Given the description of an element on the screen output the (x, y) to click on. 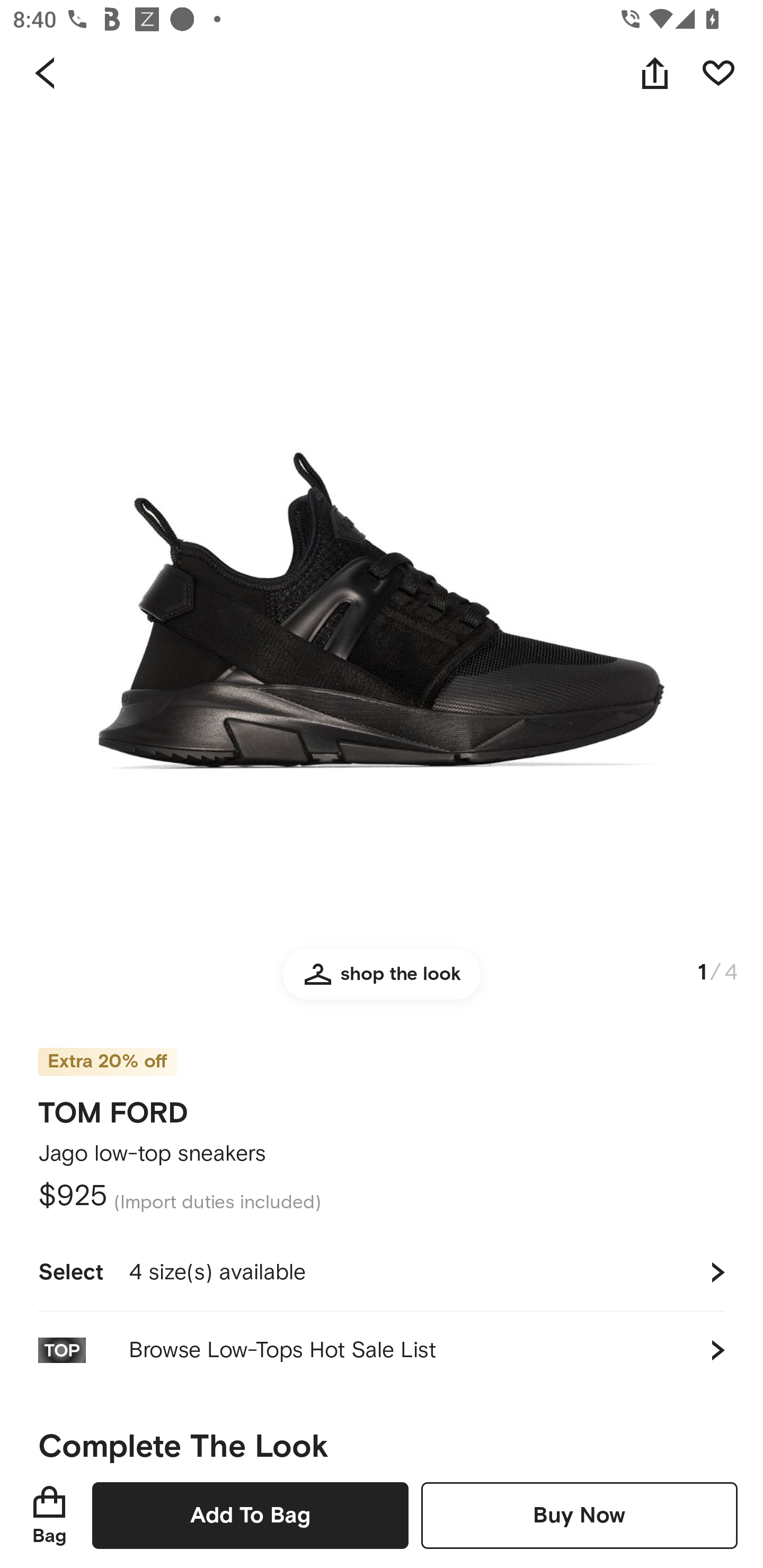
shop the look (381, 982)
Extra 20% off (107, 1049)
TOM FORD (113, 1107)
Select 4 size(s) available (381, 1272)
Browse Low-Tops Hot Sale List (381, 1349)
Bag (49, 1515)
Add To Bag (250, 1515)
Buy Now (579, 1515)
